Given the description of an element on the screen output the (x, y) to click on. 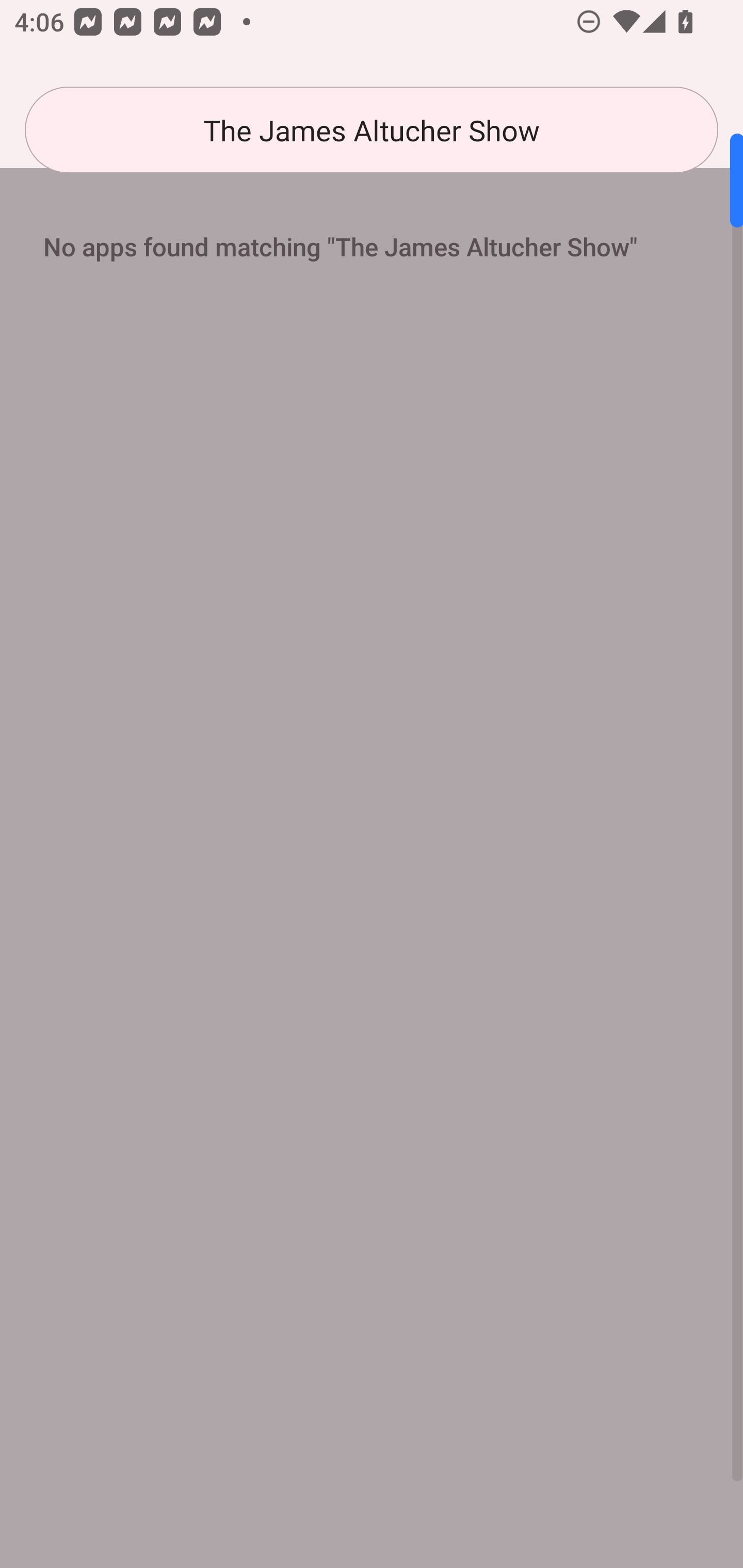
The James Altucher Show (371, 130)
